Given the description of an element on the screen output the (x, y) to click on. 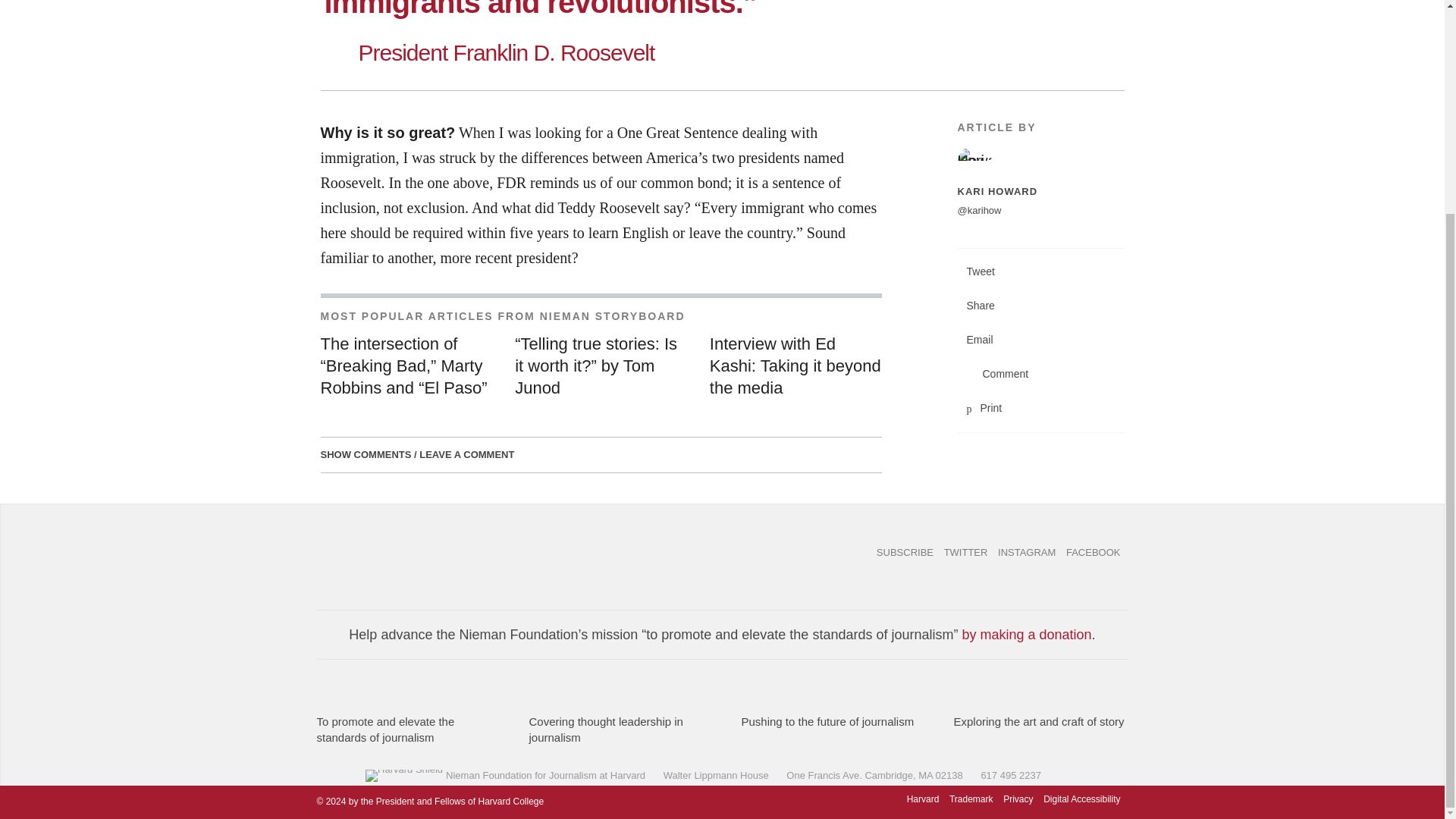
Comment (1040, 374)
Kari Howard (1040, 161)
Print (1040, 408)
Email (1040, 339)
KARI HOWARD (996, 191)
Tweet (1040, 271)
Share (1040, 305)
